Given the description of an element on the screen output the (x, y) to click on. 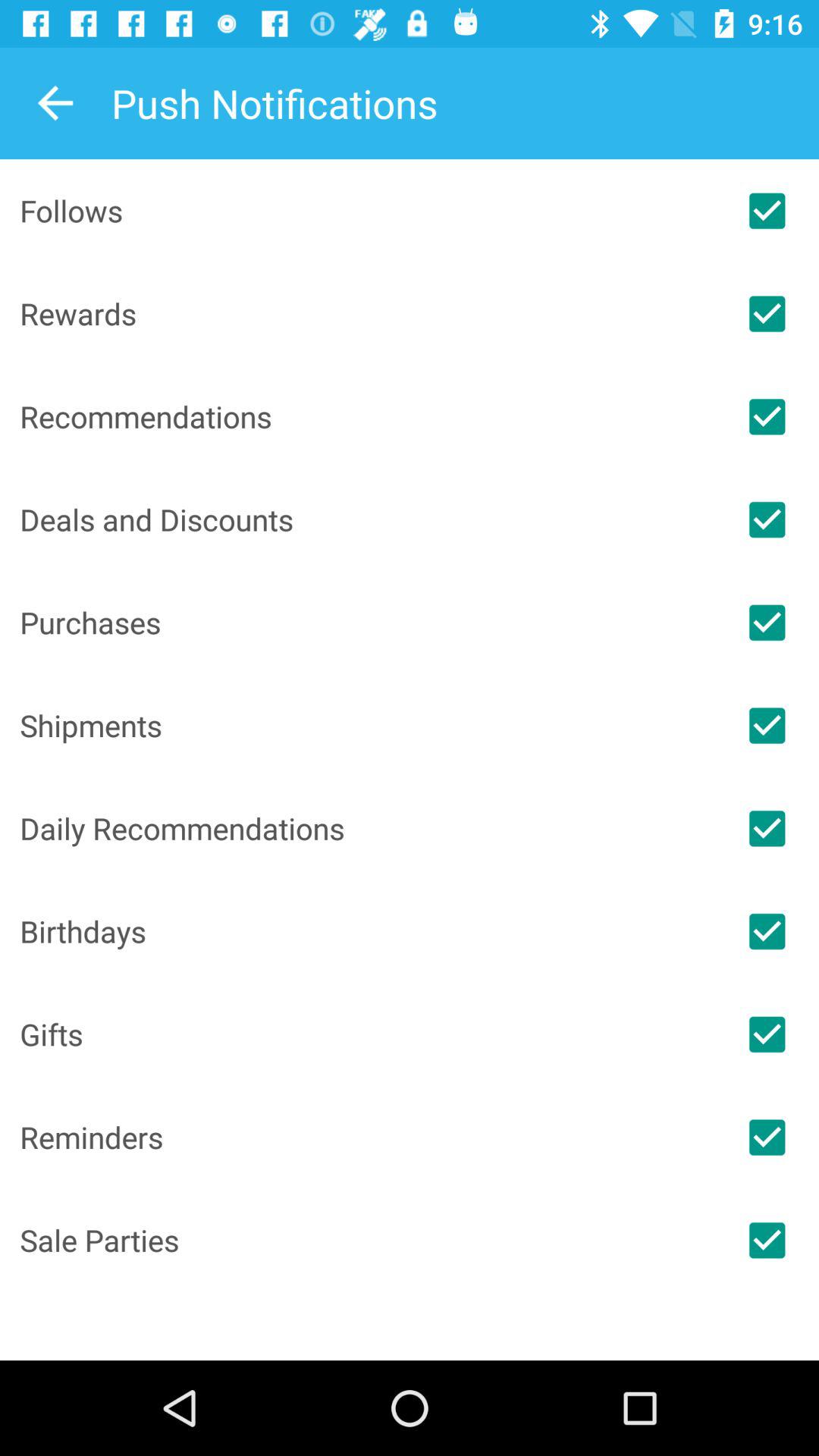
turn off the item below the daily recommendations item (367, 931)
